Given the description of an element on the screen output the (x, y) to click on. 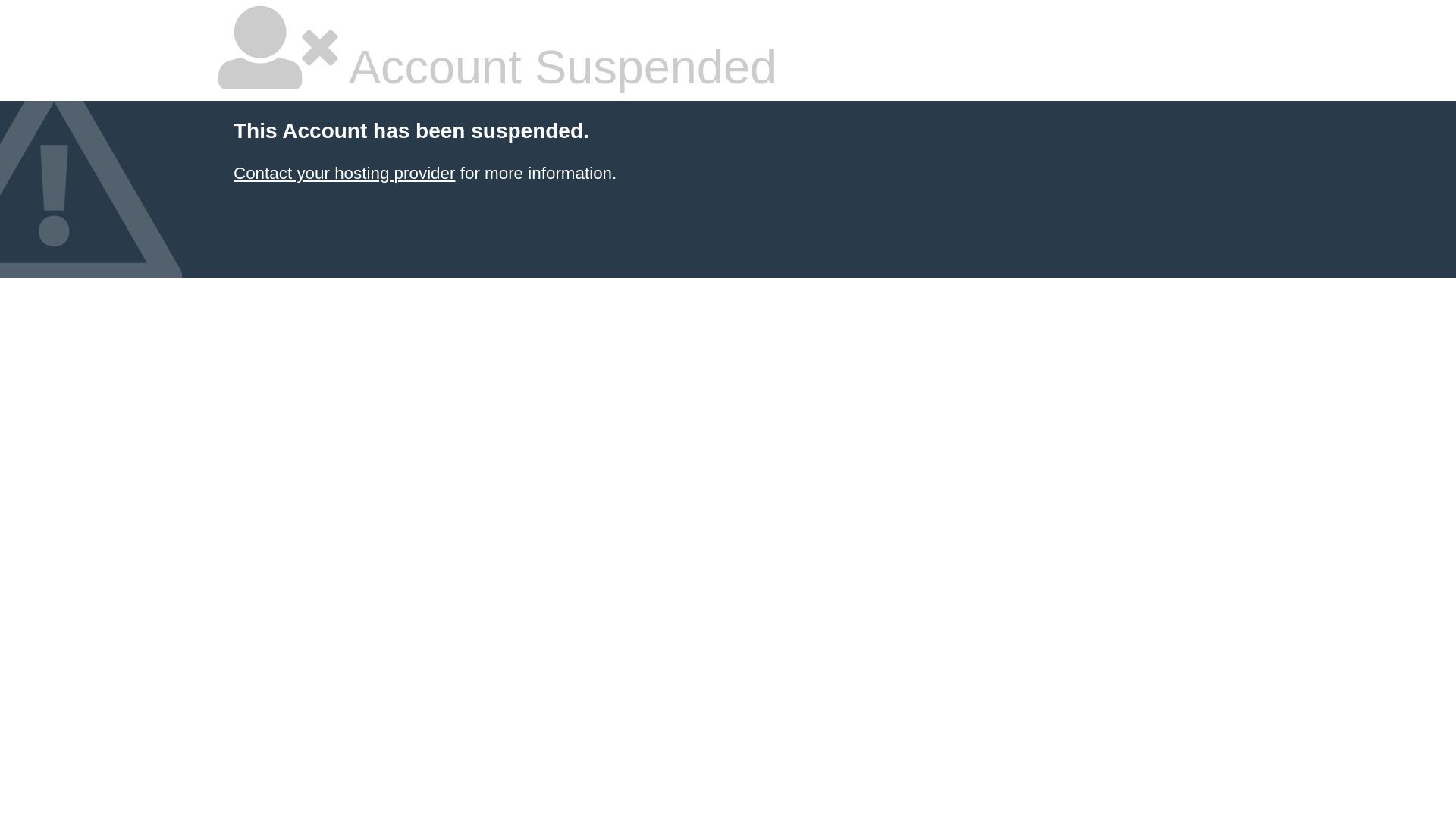
Contact your hosting provider Element type: text (344, 172)
